Given the description of an element on the screen output the (x, y) to click on. 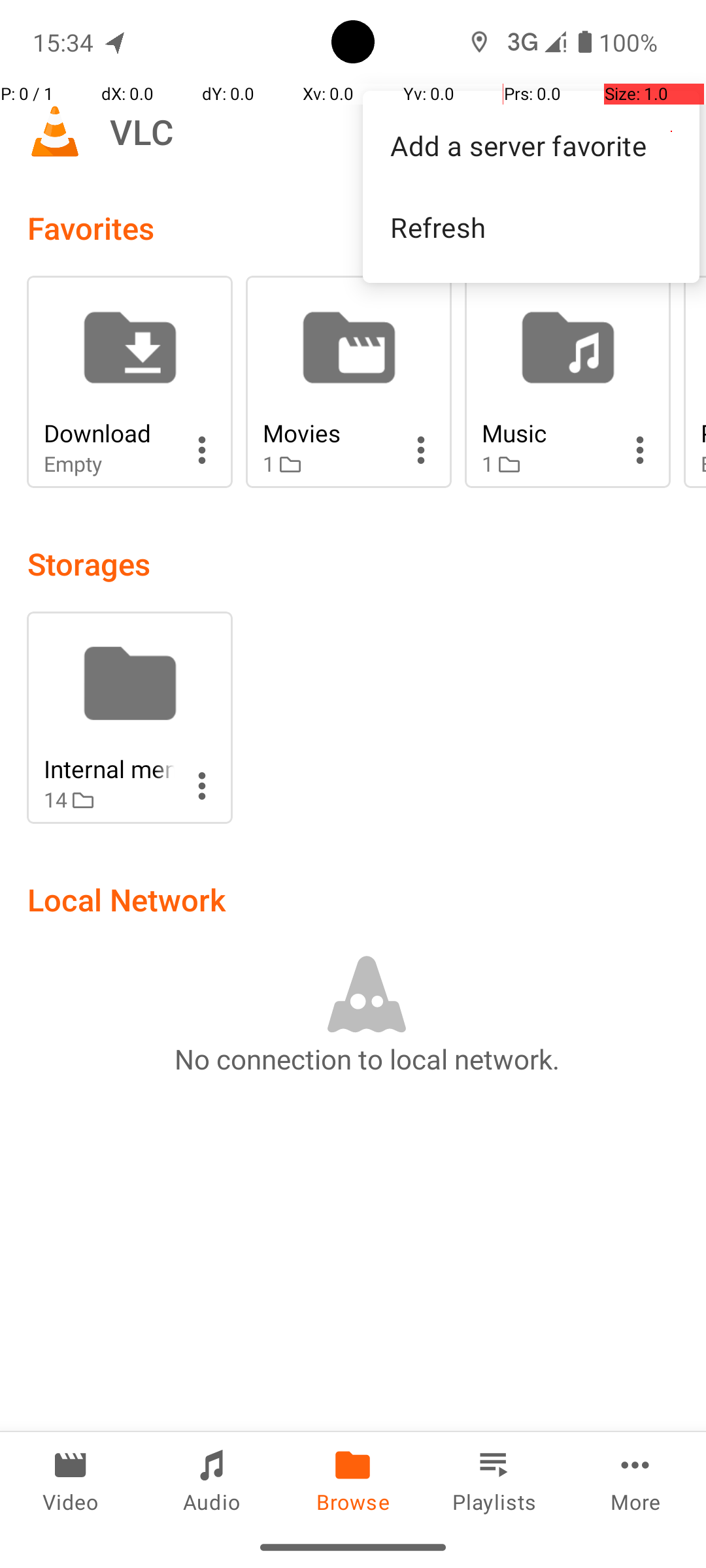
Add a server favorite Element type: android.widget.TextView (531, 144)
Refresh Element type: android.widget.TextView (531, 226)
